Given the description of an element on the screen output the (x, y) to click on. 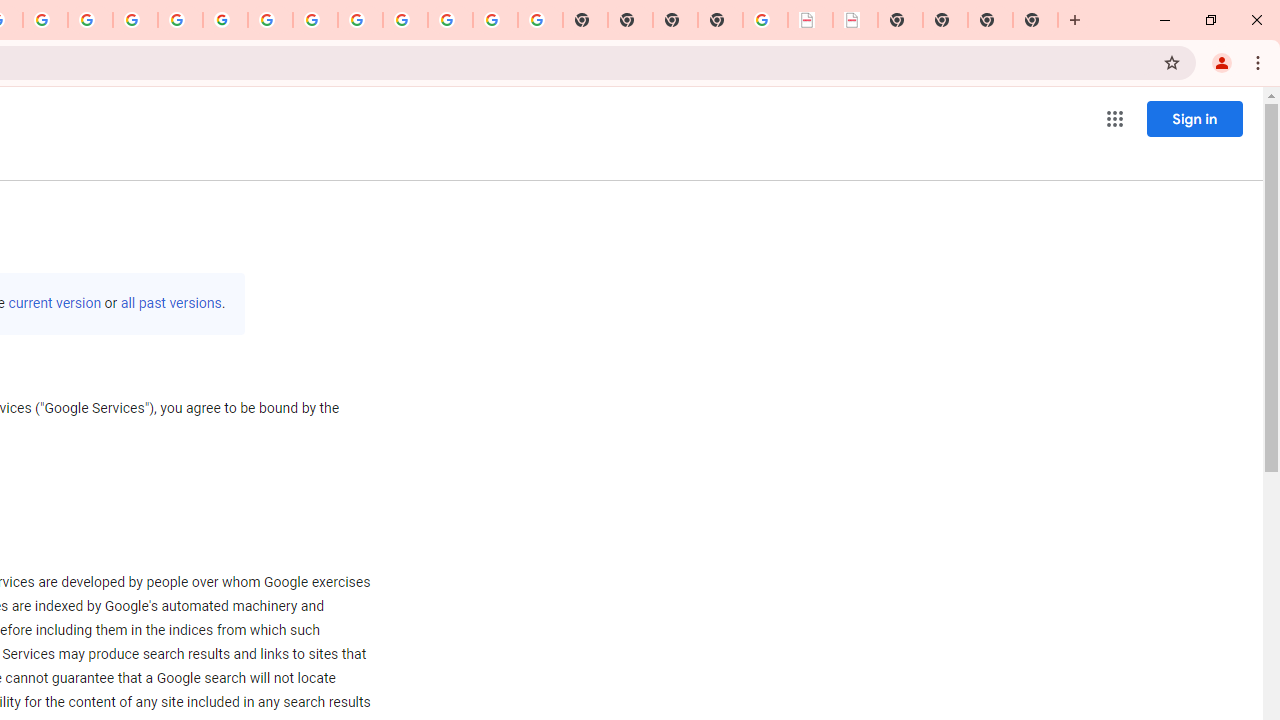
Privacy Help Center - Policies Help (89, 20)
all past versions (170, 303)
current version (54, 303)
YouTube (270, 20)
LAAD Defence & Security 2025 | BAE Systems (810, 20)
